Given the description of an element on the screen output the (x, y) to click on. 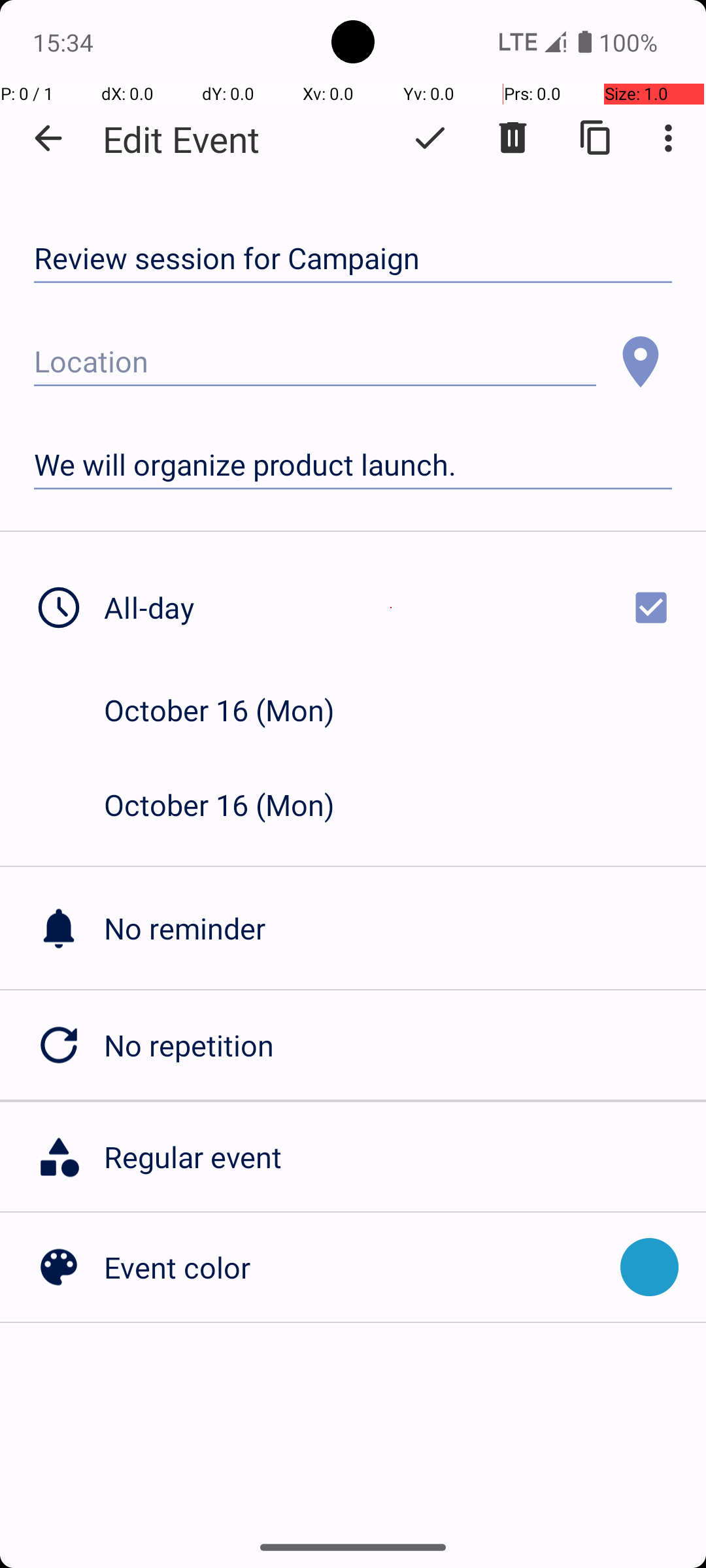
We will organize product launch. Element type: android.widget.EditText (352, 465)
